Given the description of an element on the screen output the (x, y) to click on. 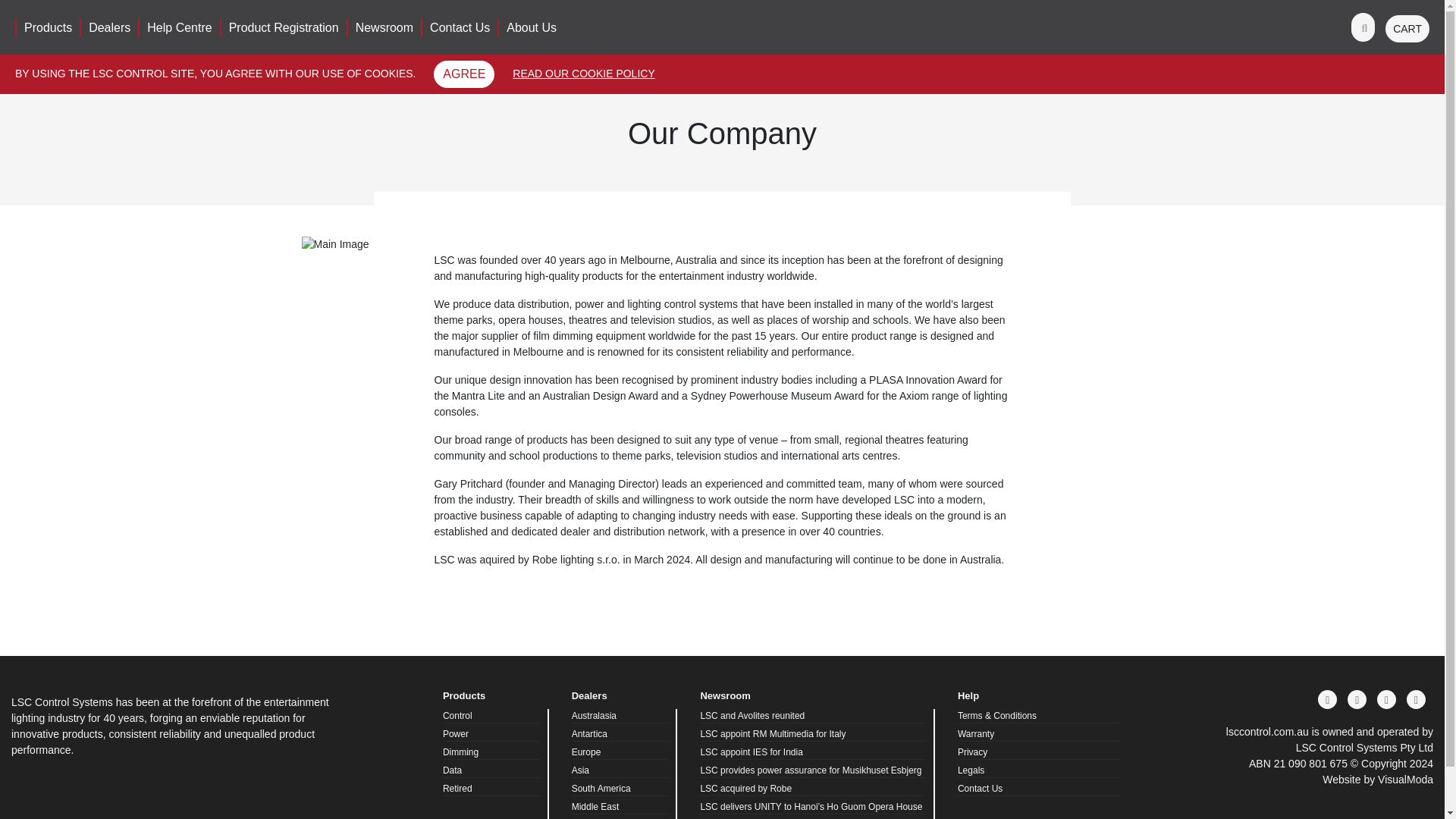
Products (47, 27)
LSC Instagram (1357, 699)
Website design (1377, 779)
LSC Twitter (1386, 699)
LSC Youtube (1415, 699)
LSC Facebook (1326, 699)
